Given the description of an element on the screen output the (x, y) to click on. 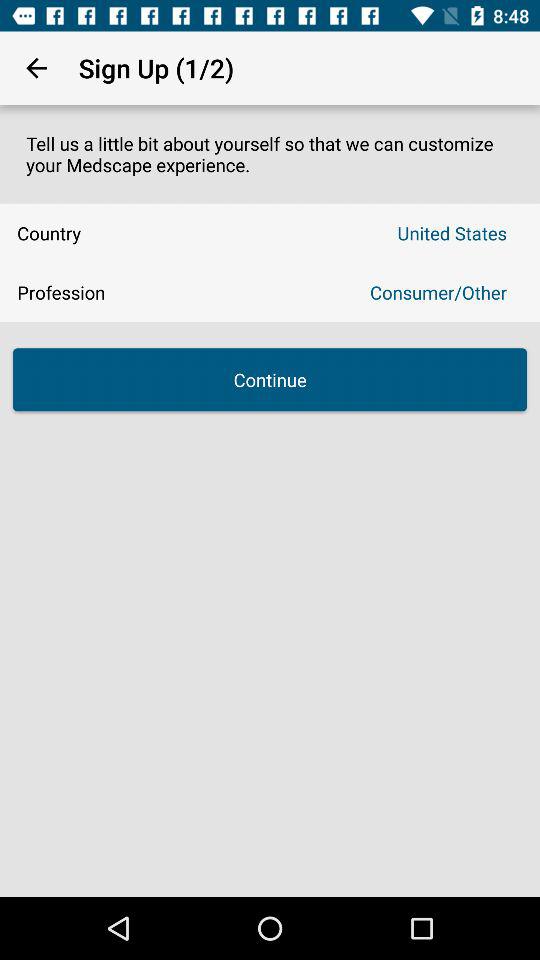
open app to the left of the sign up 1 icon (36, 68)
